Given the description of an element on the screen output the (x, y) to click on. 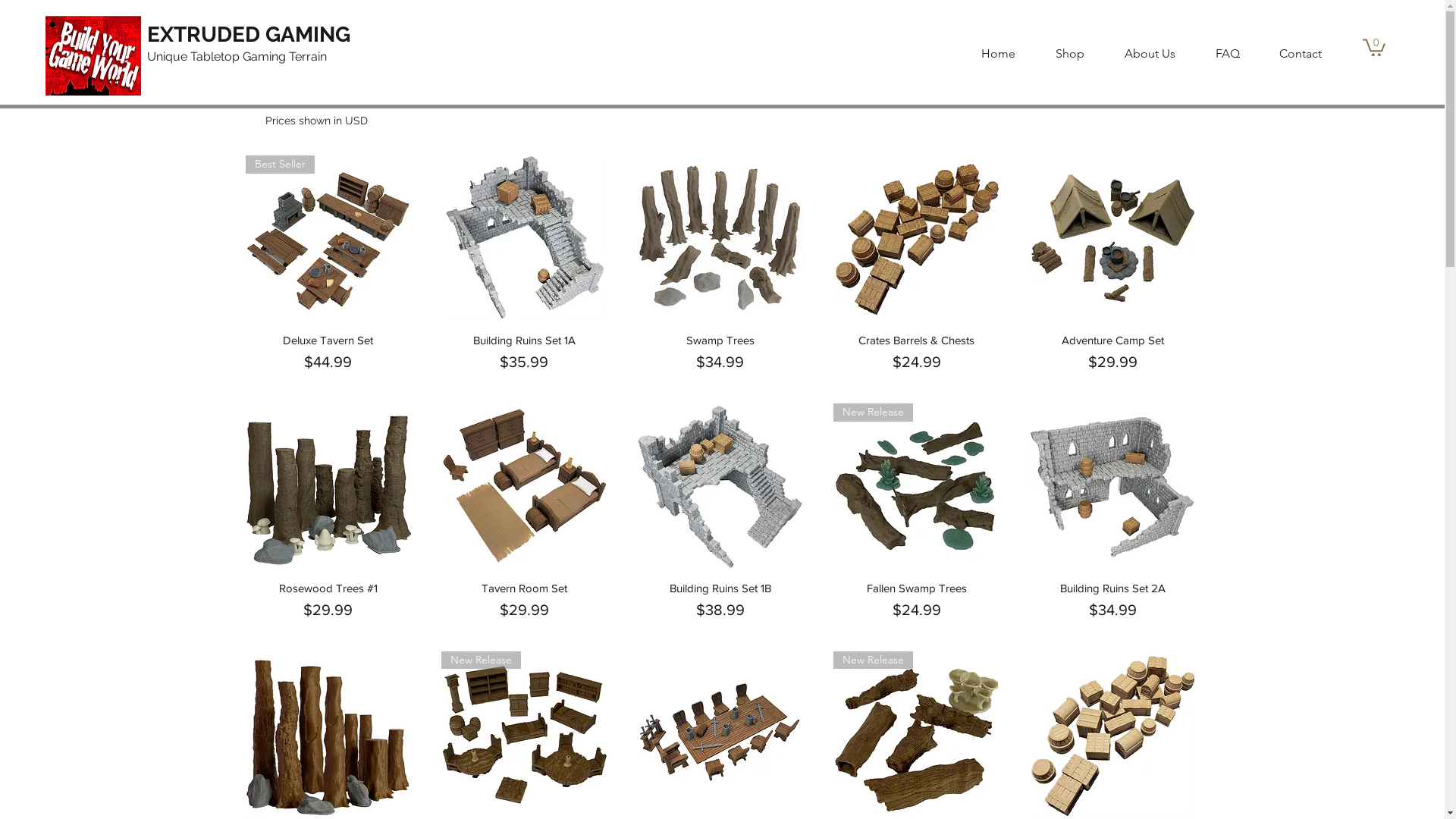
About Us Element type: text (1137, 53)
Swamp Trees
Price
$34.99 Element type: text (720, 353)
EXTRUDED GAMING Element type: text (248, 34)
Deluxe Tavern Set
Price
$44.99 Element type: text (328, 353)
Adventure Camp Set
Price
$29.99 Element type: text (1112, 353)
New Release Element type: text (524, 734)
Shop Element type: text (1057, 53)
Building Ruins Set 2A
Price
$34.99 Element type: text (1112, 601)
Fallen Swamp Trees
Price
$24.99 Element type: text (916, 601)
Tavern Room Set
Price
$29.99 Element type: text (524, 601)
Building Ruins Set 1A
Price
$35.99 Element type: text (524, 353)
Unique Tabletop Gaming Terrain Element type: text (236, 56)
FAQ Element type: text (1215, 53)
Contact Element type: text (1288, 53)
Crates Barrels & Chests
Price
$24.99 Element type: text (916, 353)
Home Element type: text (985, 53)
New Release Element type: text (916, 734)
Rosewood Trees #1
Price
$29.99 Element type: text (328, 601)
Best Seller Element type: text (328, 238)
0 Element type: text (1373, 46)
New Release Element type: text (916, 486)
Building Ruins Set 1B
Price
$38.99 Element type: text (720, 601)
